Given the description of an element on the screen output the (x, y) to click on. 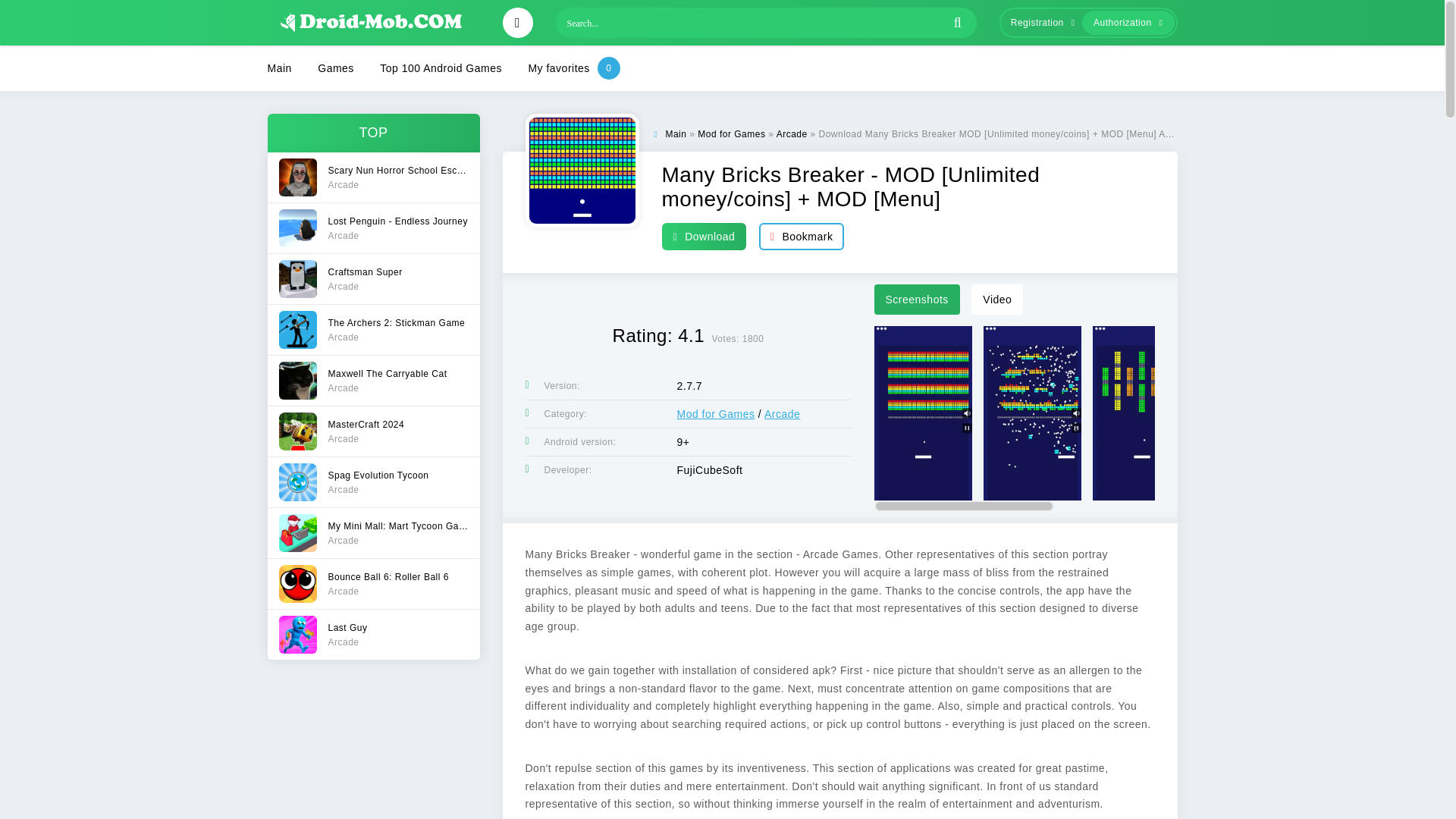
Arcade (372, 379)
Top 100 Android Games (792, 133)
Main (441, 67)
Registration (675, 133)
Mod for Games (372, 227)
Mod for Games (1038, 22)
Arcade (372, 531)
